Given the description of an element on the screen output the (x, y) to click on. 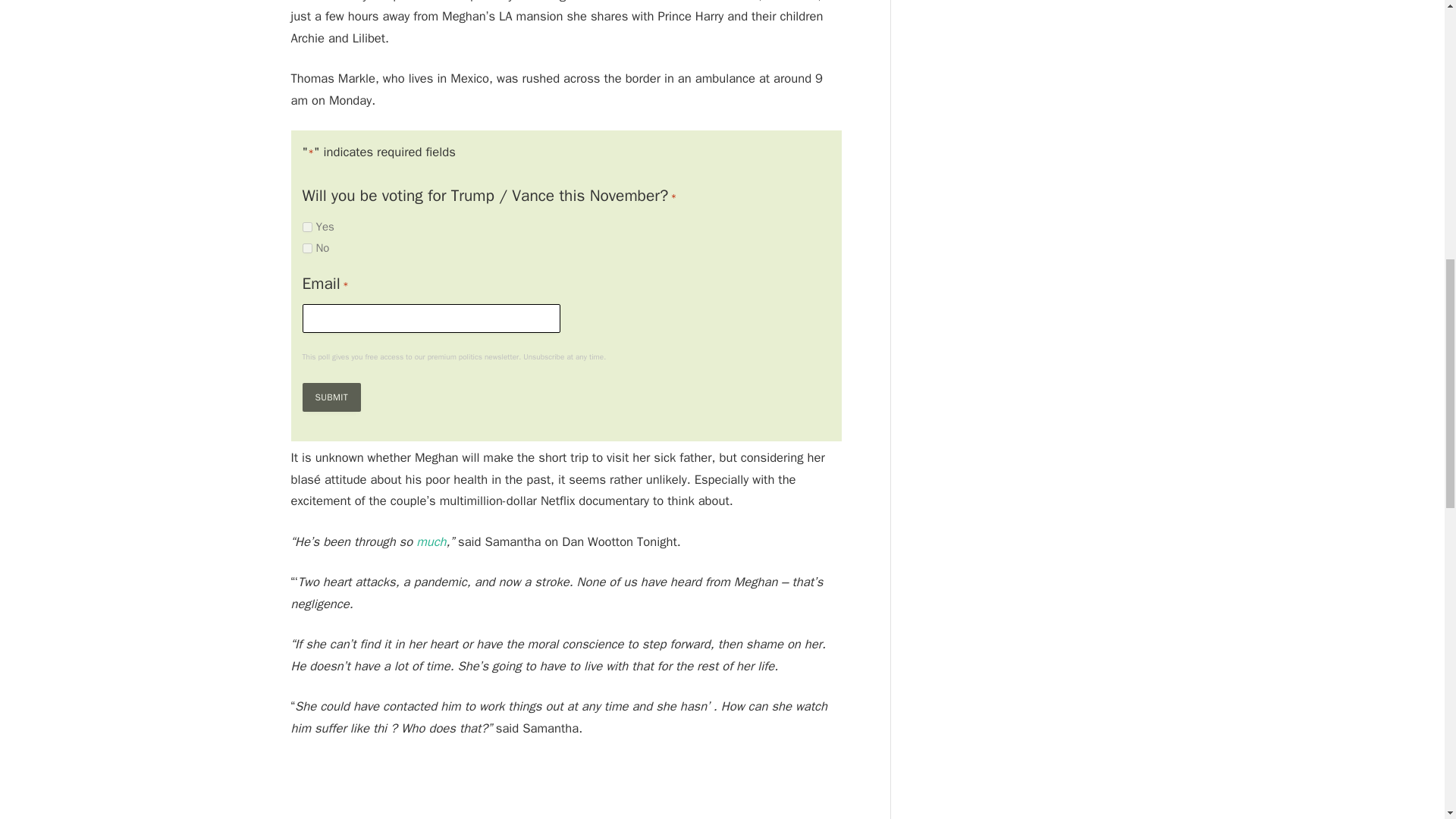
gpoll1b2a53ce5 (306, 248)
gpoll1b5b3d8f6 (306, 226)
Submit (331, 397)
much (430, 541)
Submit (331, 397)
